Given the description of an element on the screen output the (x, y) to click on. 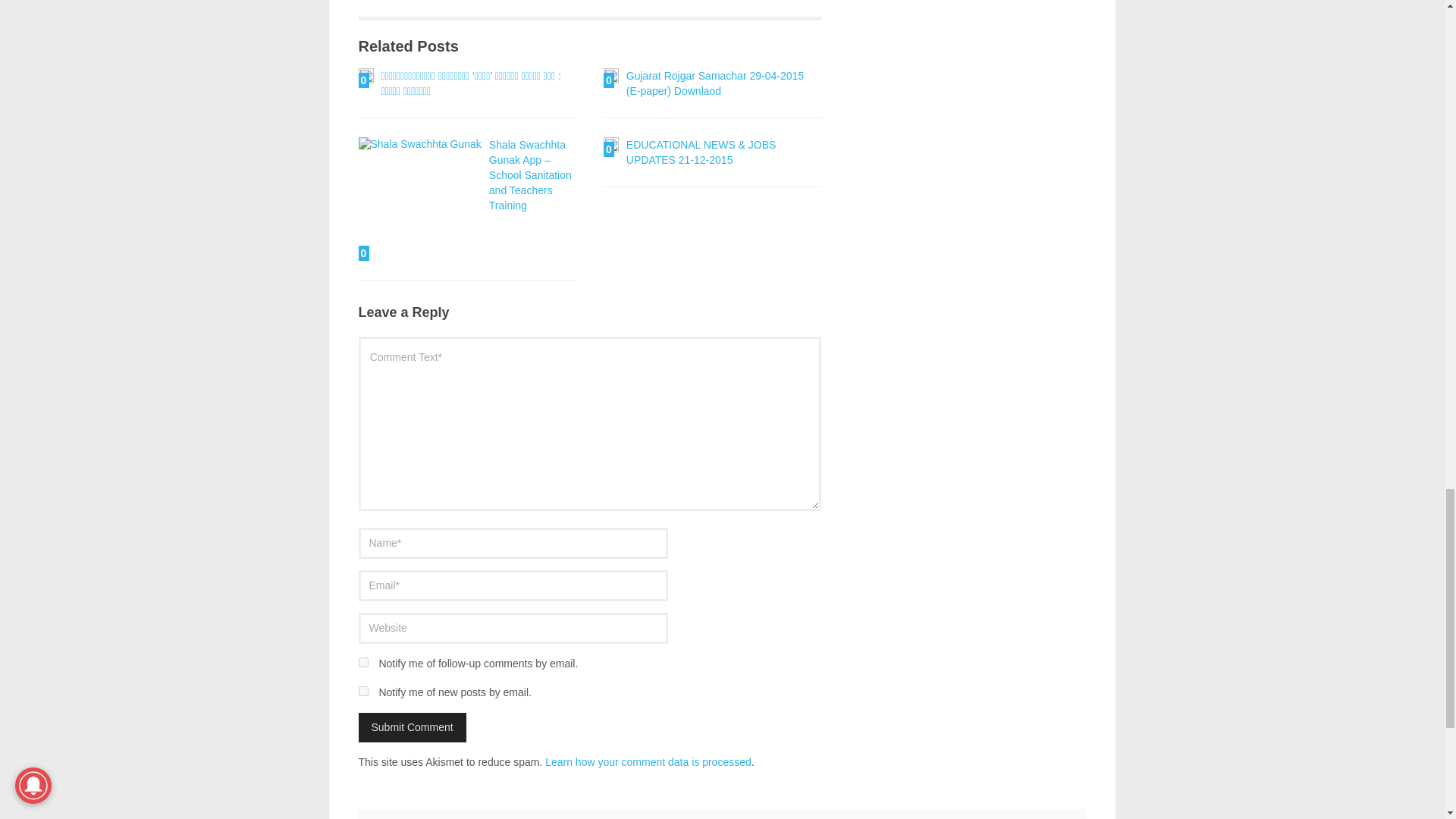
Submit Comment (411, 727)
subscribe (363, 691)
subscribe (363, 662)
